Given the description of an element on the screen output the (x, y) to click on. 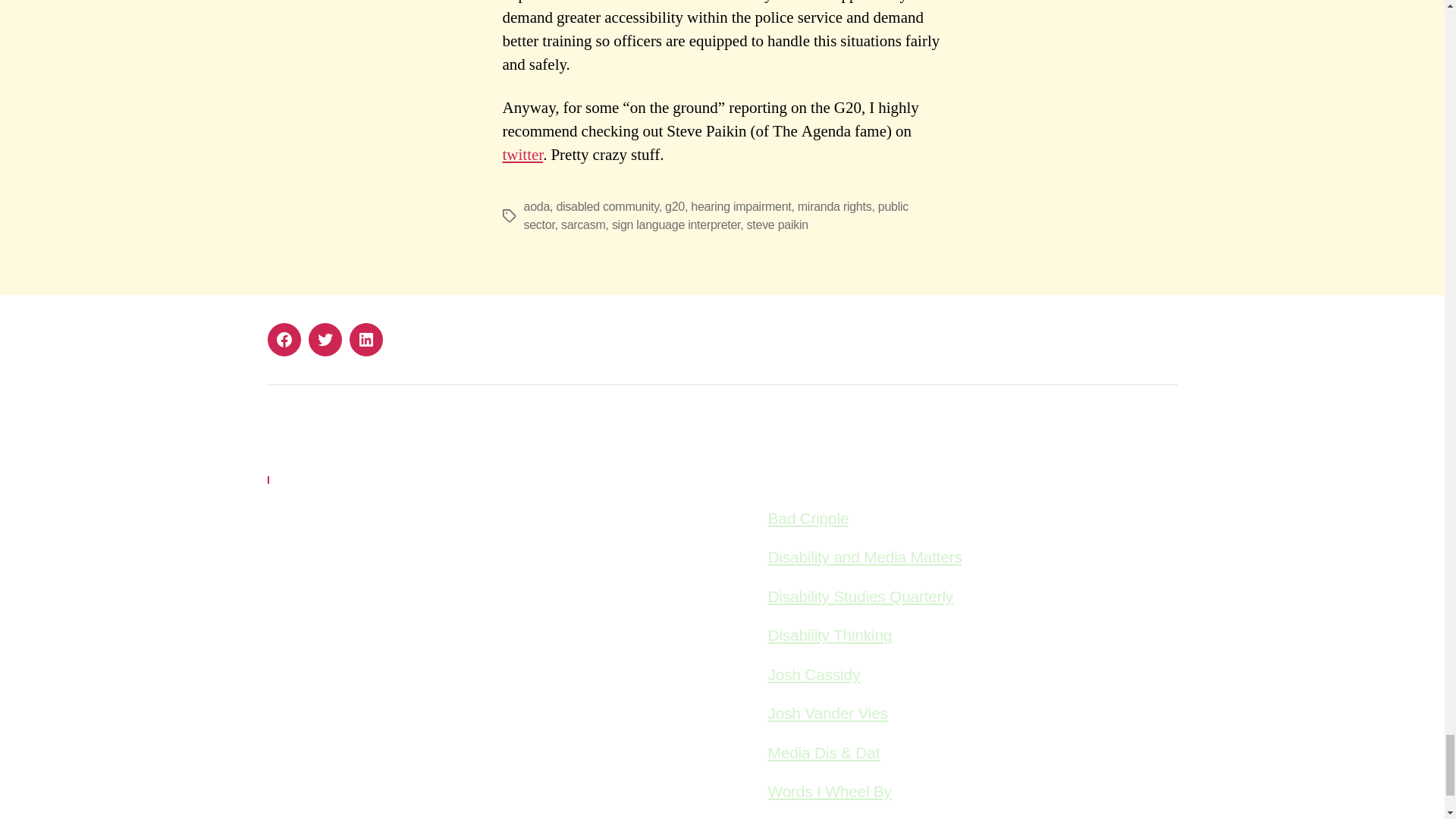
The famous disability studies journal (860, 596)
